Given the description of an element on the screen output the (x, y) to click on. 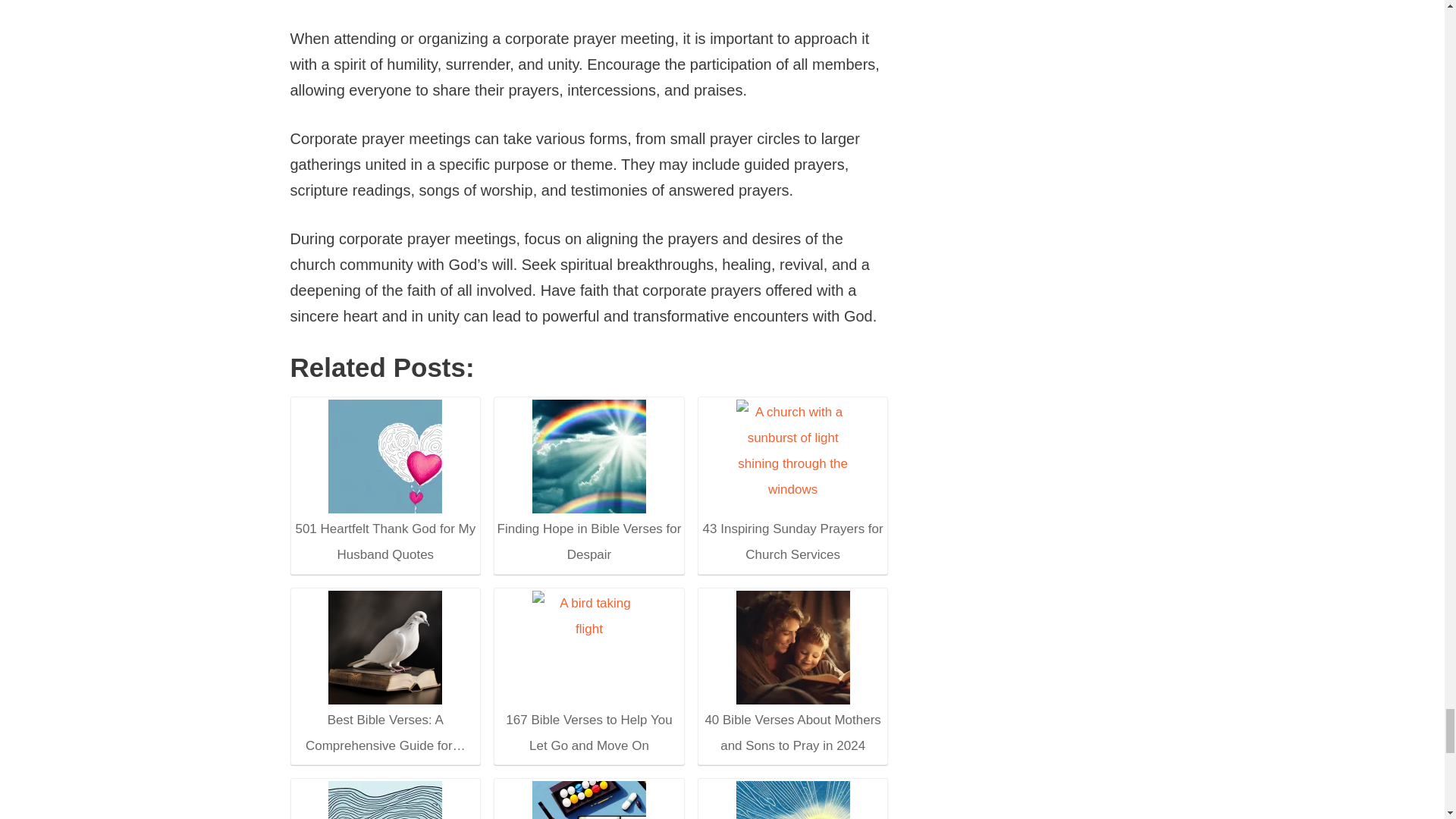
92 Best Bible Verses About Addiction KJV (588, 800)
157 Inspirational Verses About Life from the Bible (385, 800)
167 Bible Verses to Help You Let Go and Move On (589, 646)
Finding Hope in Bible Verses for Despair (589, 456)
167 Bible Verses to Help You Let Go and Move On (588, 673)
43 Inspiring Sunday Prayers for Church Services (792, 483)
40 Bible Verses About Mothers and Sons to Pray in 2024 (793, 646)
157 Inspirational Verses About Life from the Bible (384, 800)
92 Best Bible Verses About Addiction KJV (589, 800)
43 Inspiring Sunday Prayers for Church Services (793, 456)
501 Heartfelt Thank God for My Husband Quotes (385, 456)
40 Bible Verses About Mothers and Sons to Pray in 2024 (792, 673)
120 KJV Verses for Dealing with Depression (792, 800)
120 KJV Verses for Dealing with Depression (793, 800)
Finding Hope in Bible Verses for Despair (588, 483)
